Given the description of an element on the screen output the (x, y) to click on. 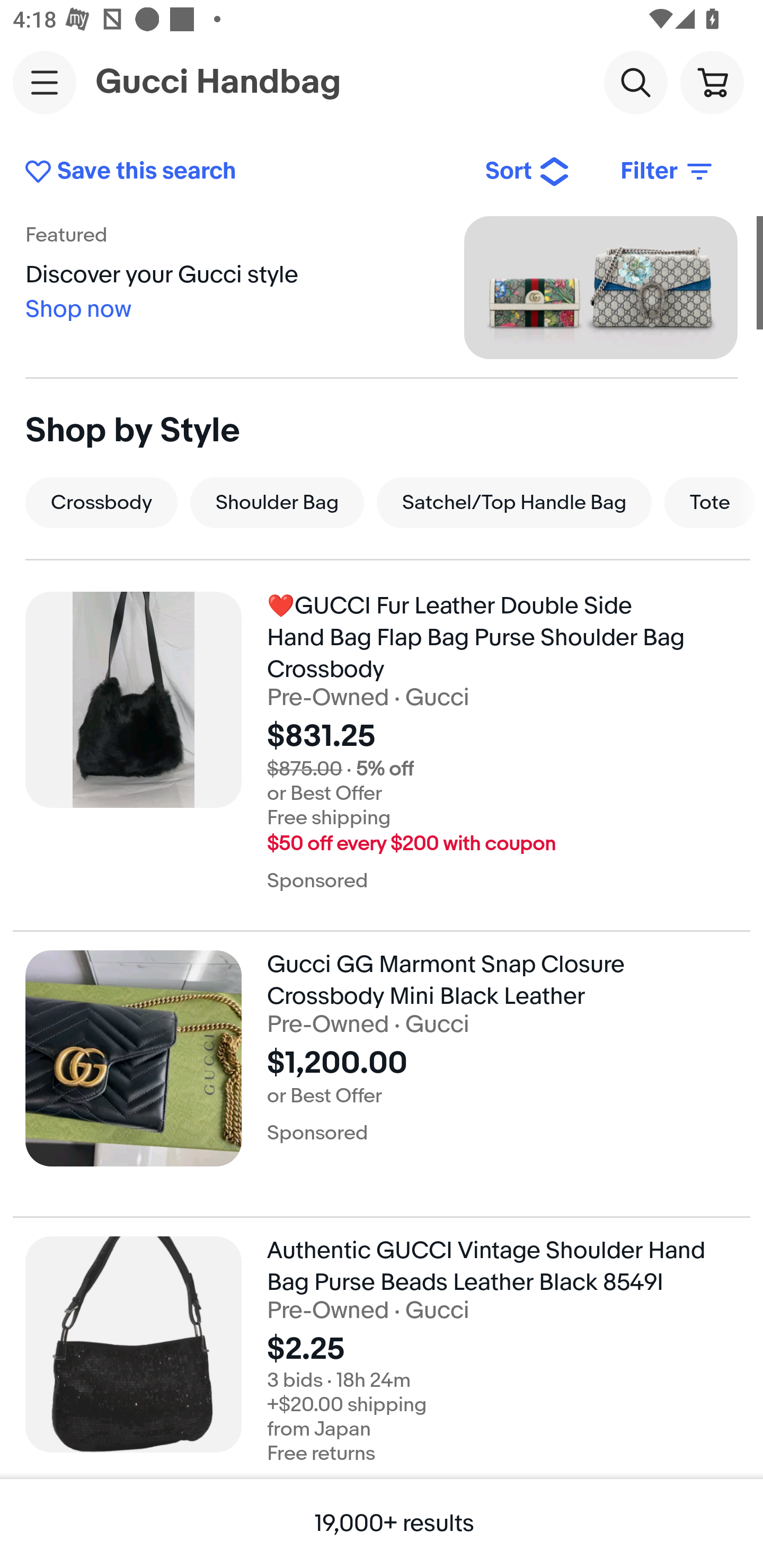
Main navigation, open (44, 82)
Search (635, 81)
Cart button shopping cart (711, 81)
Save this search (241, 171)
Sort (527, 171)
Filter (667, 171)
Featured Discover your Gucci style Shop now (381, 287)
Crossbody Crossbody, Style (101, 502)
Shoulder Bag Shoulder Bag, Style (276, 502)
Tote Tote, Style (709, 502)
